Given the description of an element on the screen output the (x, y) to click on. 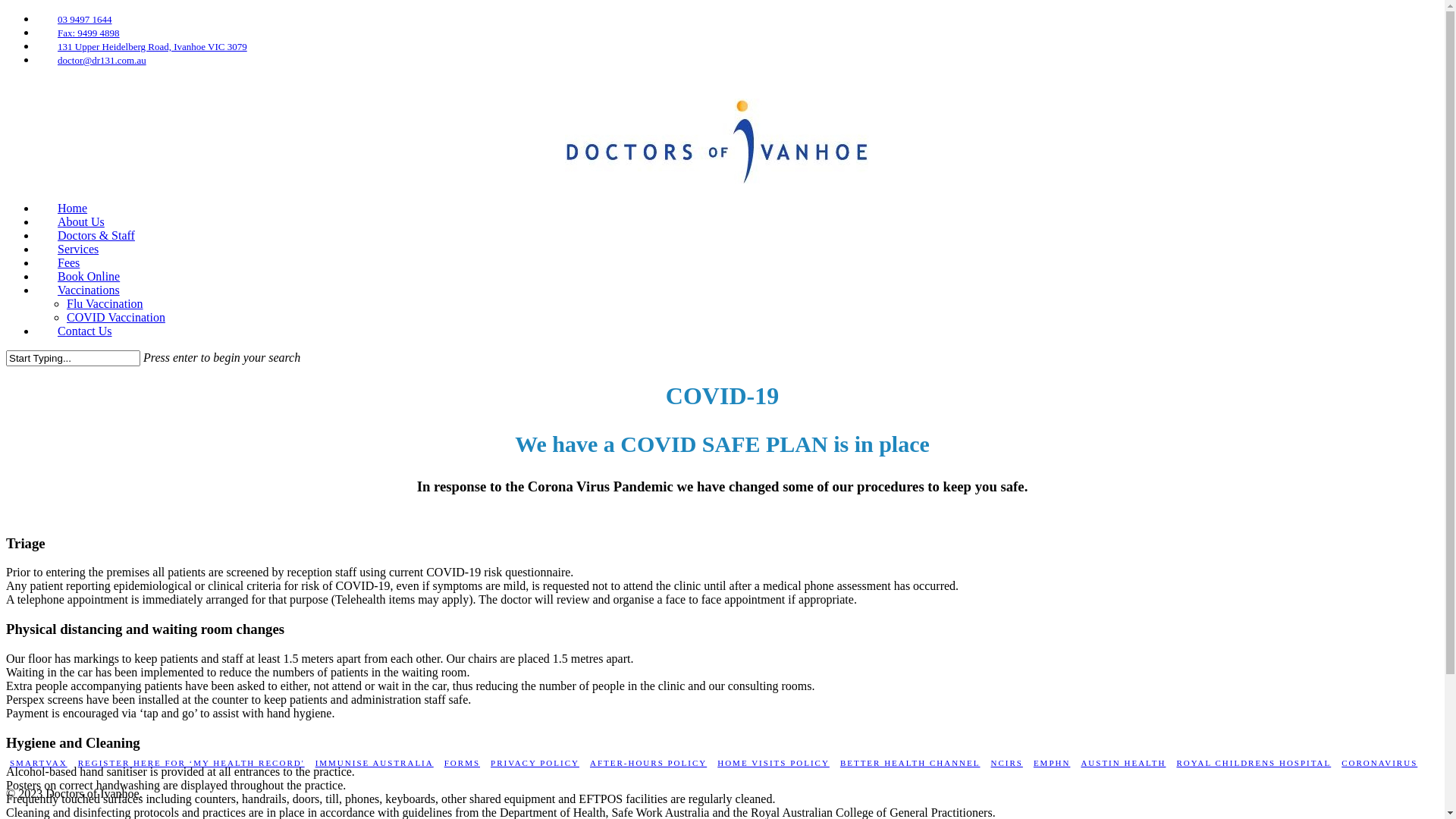
COVID Vaccination Element type: text (115, 316)
BETTER HEALTH CHANNEL Element type: text (910, 762)
ROYAL CHILDRENS HOSPITAL Element type: text (1253, 762)
Book Online Element type: text (88, 275)
Contact Us Element type: text (84, 330)
About Us Element type: text (80, 221)
Skip to main content Element type: text (5, 11)
CORONAVIRUS Element type: text (1379, 762)
IMMUNISE AUSTRALIA Element type: text (374, 762)
Flu Vaccination Element type: text (104, 303)
HOME VISITS POLICY Element type: text (773, 762)
Home Element type: text (72, 207)
PRIVACY POLICY Element type: text (534, 762)
AFTER-HOURS POLICY Element type: text (648, 762)
Fax: 9499 4898 Element type: text (86, 32)
Vaccinations Element type: text (88, 289)
NCIRS Element type: text (1006, 762)
Services Element type: text (77, 248)
Fees Element type: text (68, 262)
Doctors & Staff Element type: text (95, 235)
131 Upper Heidelberg Road, Ivanhoe VIC 3079 Element type: text (149, 46)
EMPHN Element type: text (1051, 762)
doctor@dr131.com.au Element type: text (99, 59)
FORMS Element type: text (461, 762)
SMARTVAX Element type: text (38, 762)
AUSTIN HEALTH Element type: text (1122, 762)
